Given the description of an element on the screen output the (x, y) to click on. 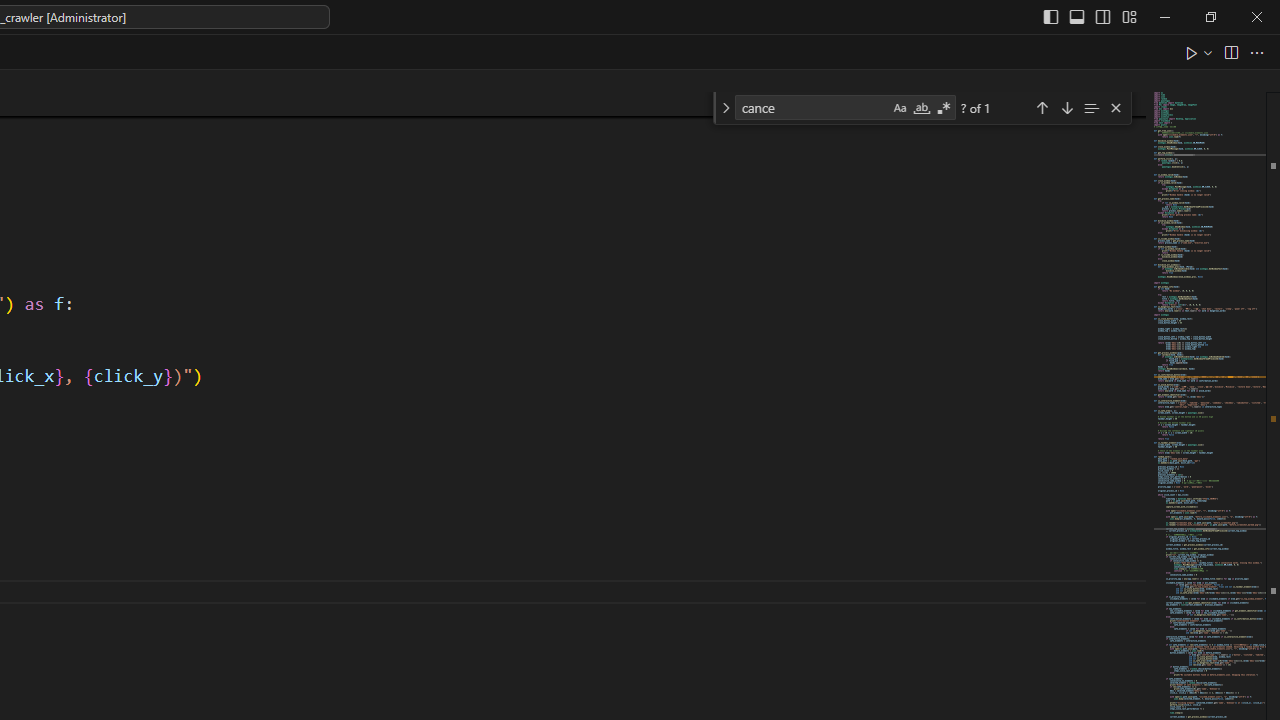
Previous Match (Shift+Enter) (1041, 106)
Next Match (Enter) (1066, 106)
Run or Debug... (1208, 52)
Toggle Secondary Side Bar (Ctrl+Alt+B) (1102, 16)
Title actions (1089, 16)
Toggle Replace (725, 107)
Find in Selection (Alt+L) (1091, 106)
Find (812, 106)
Toggle Primary Side Bar (Ctrl+B) (1050, 16)
Close (Escape) (1115, 107)
Split Editor Right (Ctrl+\) [Alt] Split Editor Down (1230, 52)
Customize Layout... (1128, 16)
More Actions... (1256, 52)
Editor actions (1226, 52)
